Given the description of an element on the screen output the (x, y) to click on. 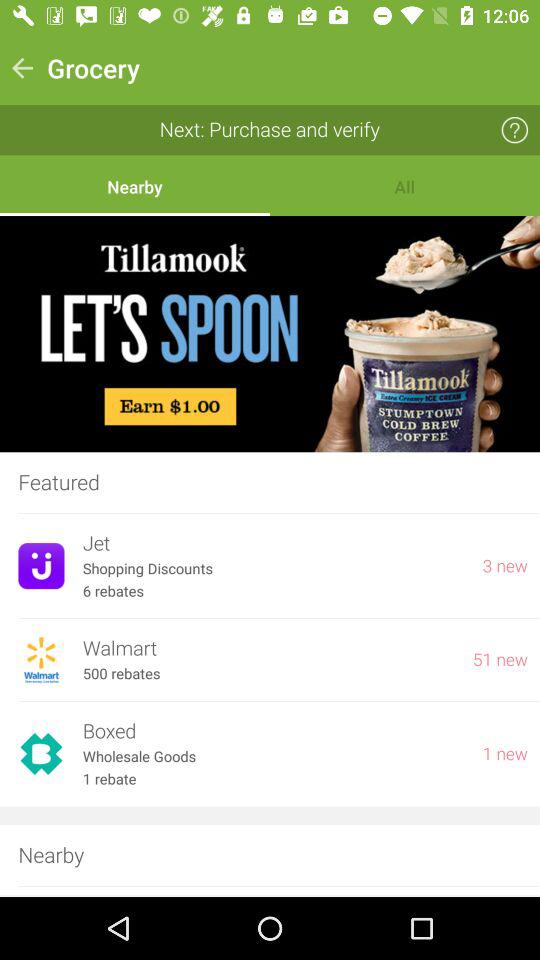
turn off item next to the 51 new item (268, 648)
